Given the description of an element on the screen output the (x, y) to click on. 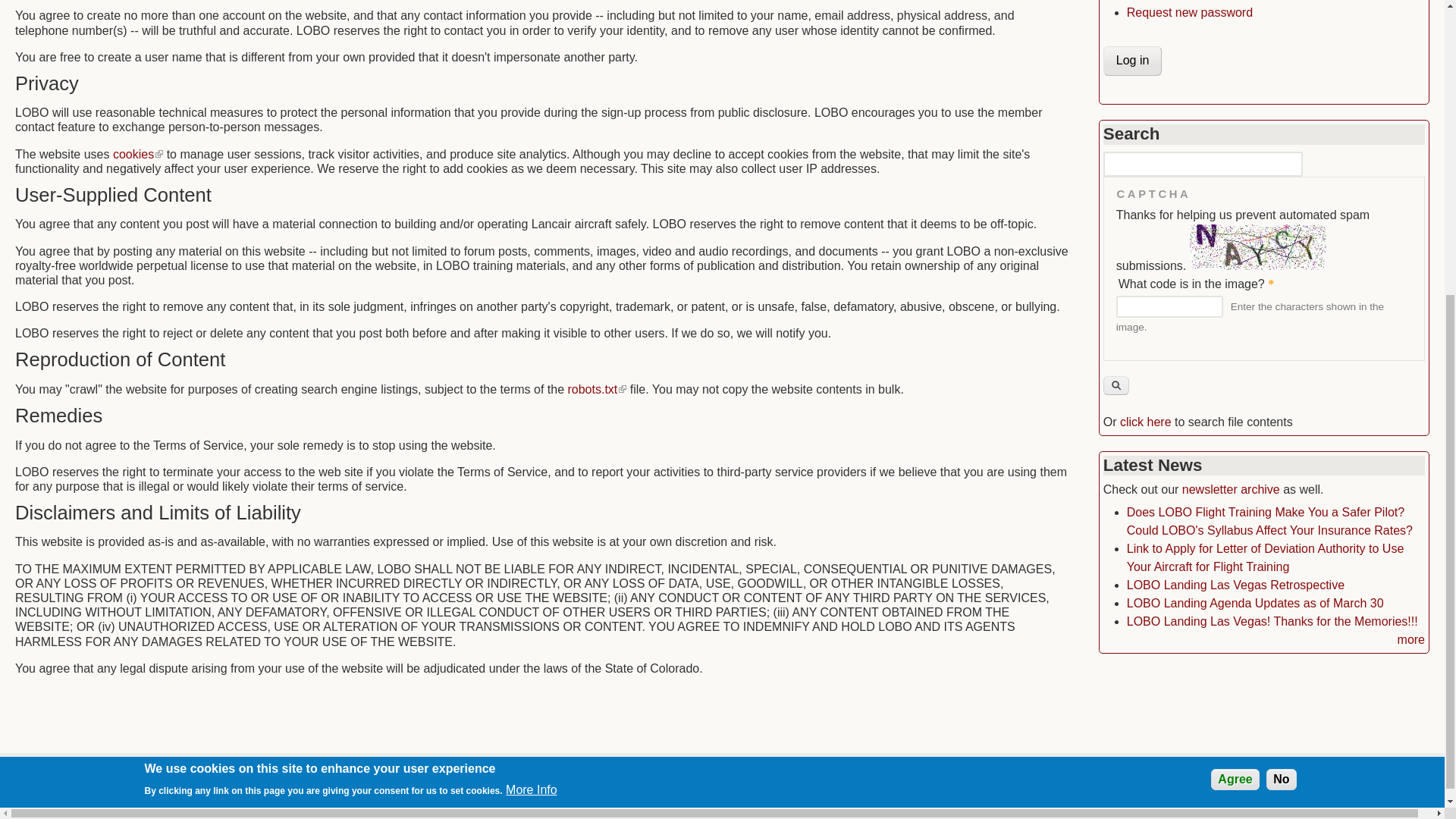
Request new password (1189, 11)
Log in (1132, 60)
Search (1116, 384)
Log in (1132, 60)
